Given the description of an element on the screen output the (x, y) to click on. 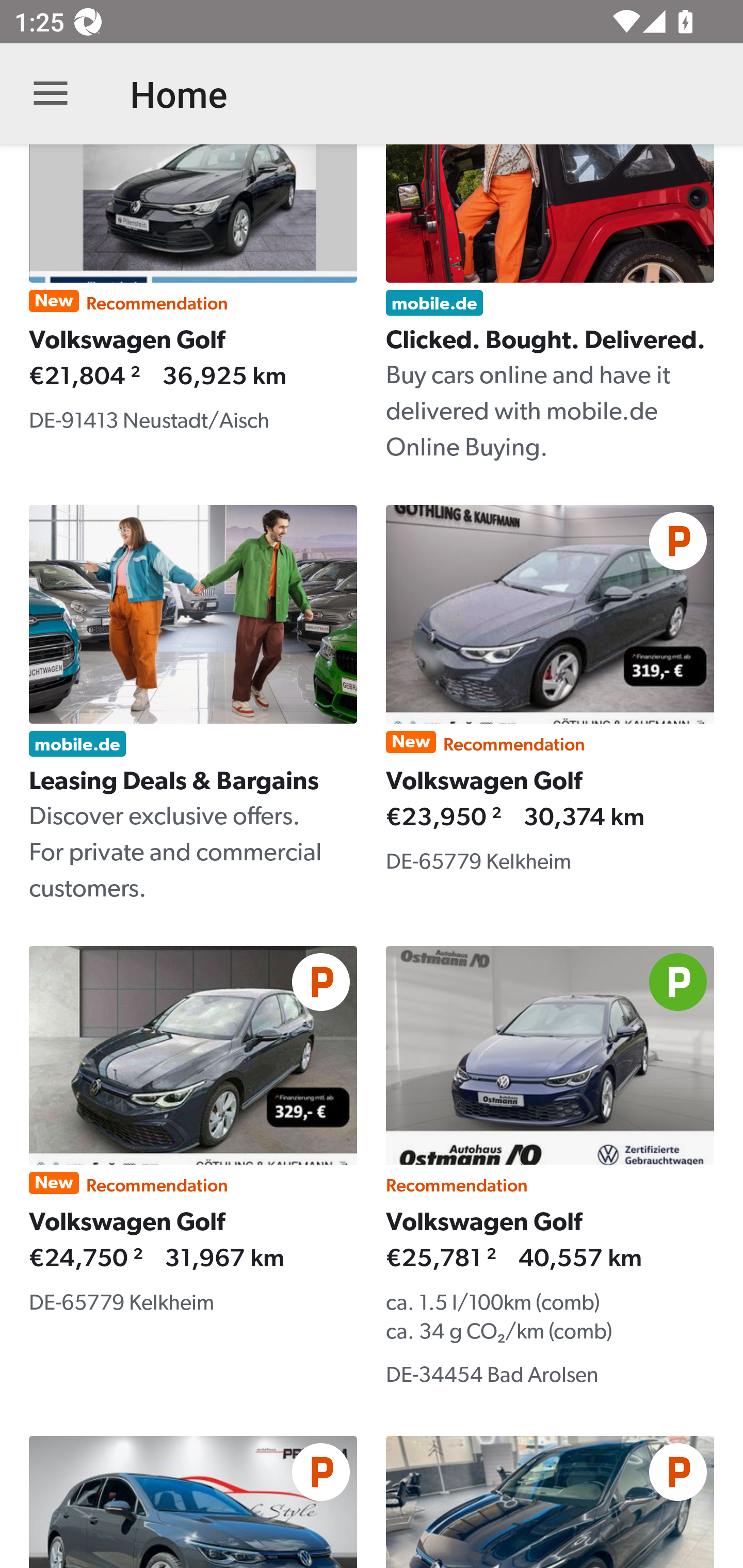
Open navigation bar (50, 93)
